Given the description of an element on the screen output the (x, y) to click on. 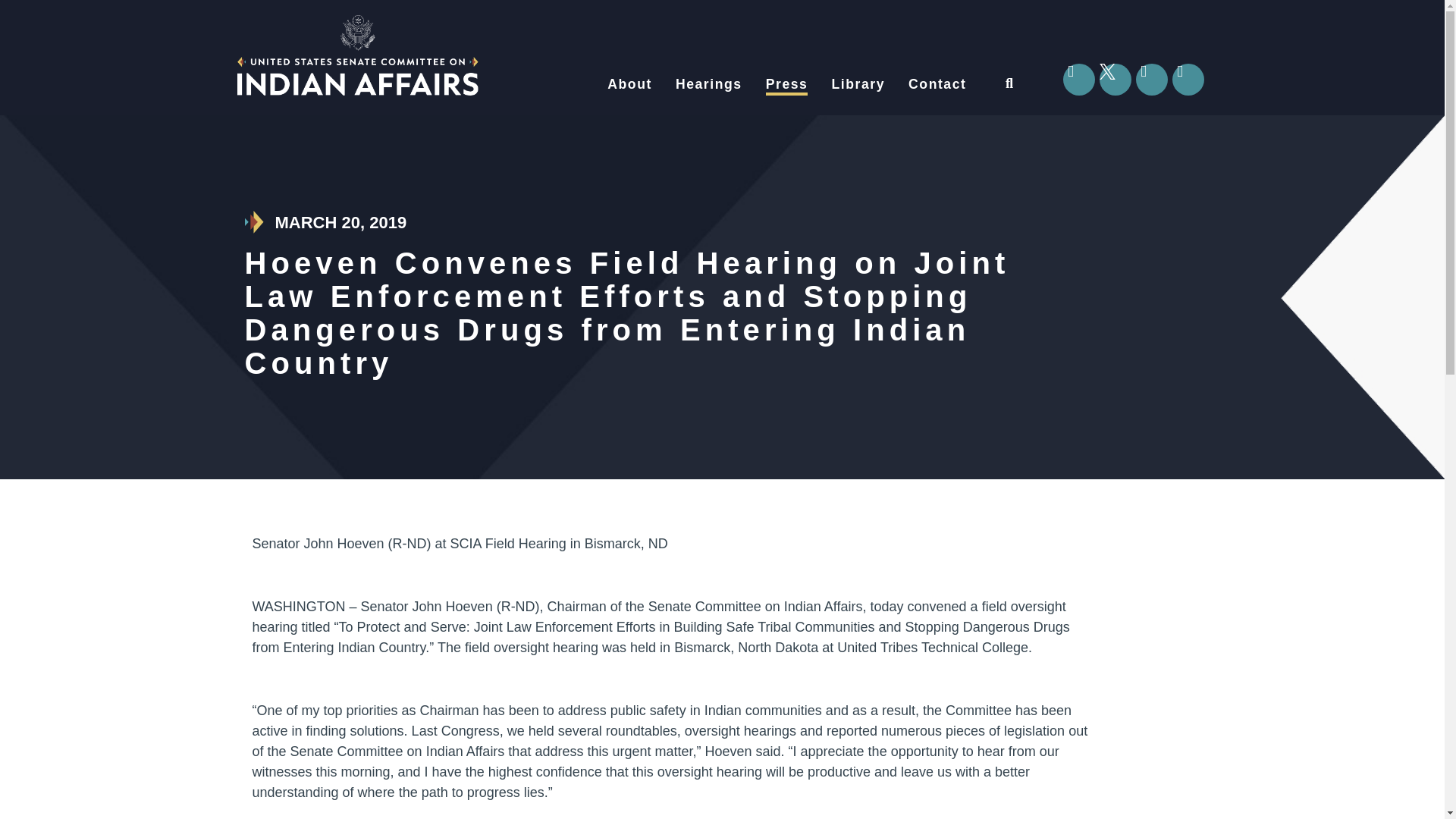
About (629, 83)
Library (858, 83)
Hearings (708, 83)
Press (786, 83)
Contact (937, 83)
